Given the description of an element on the screen output the (x, y) to click on. 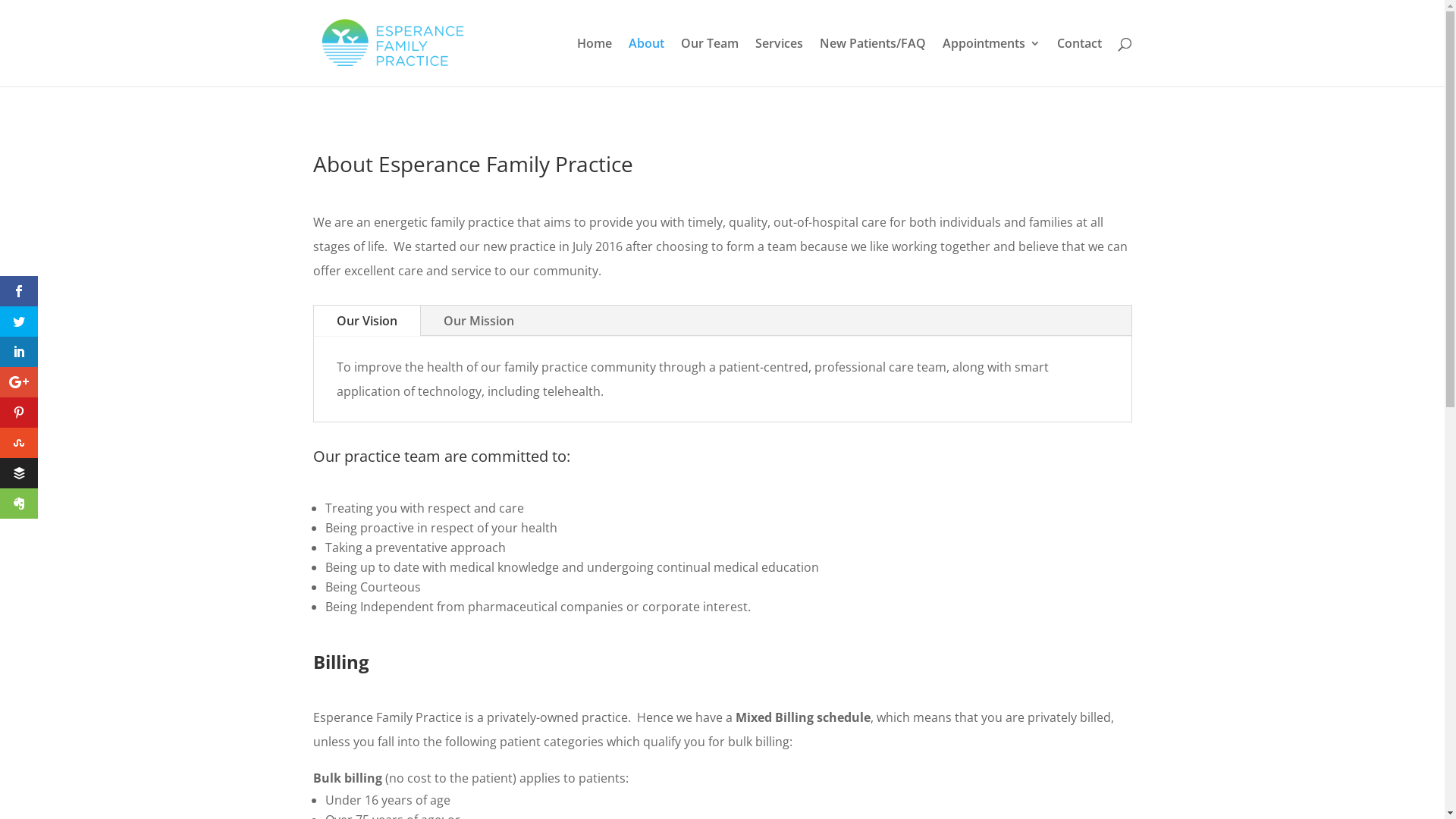
Our Team Element type: text (709, 61)
practice team Element type: text (392, 455)
About Element type: text (645, 61)
New Patients/FAQ Element type: text (872, 61)
Our Mission Element type: text (478, 320)
Services Element type: text (779, 61)
Our Vision Element type: text (366, 320)
Home Element type: text (593, 61)
Contact Element type: text (1079, 61)
Appointments Element type: text (990, 61)
